Given the description of an element on the screen output the (x, y) to click on. 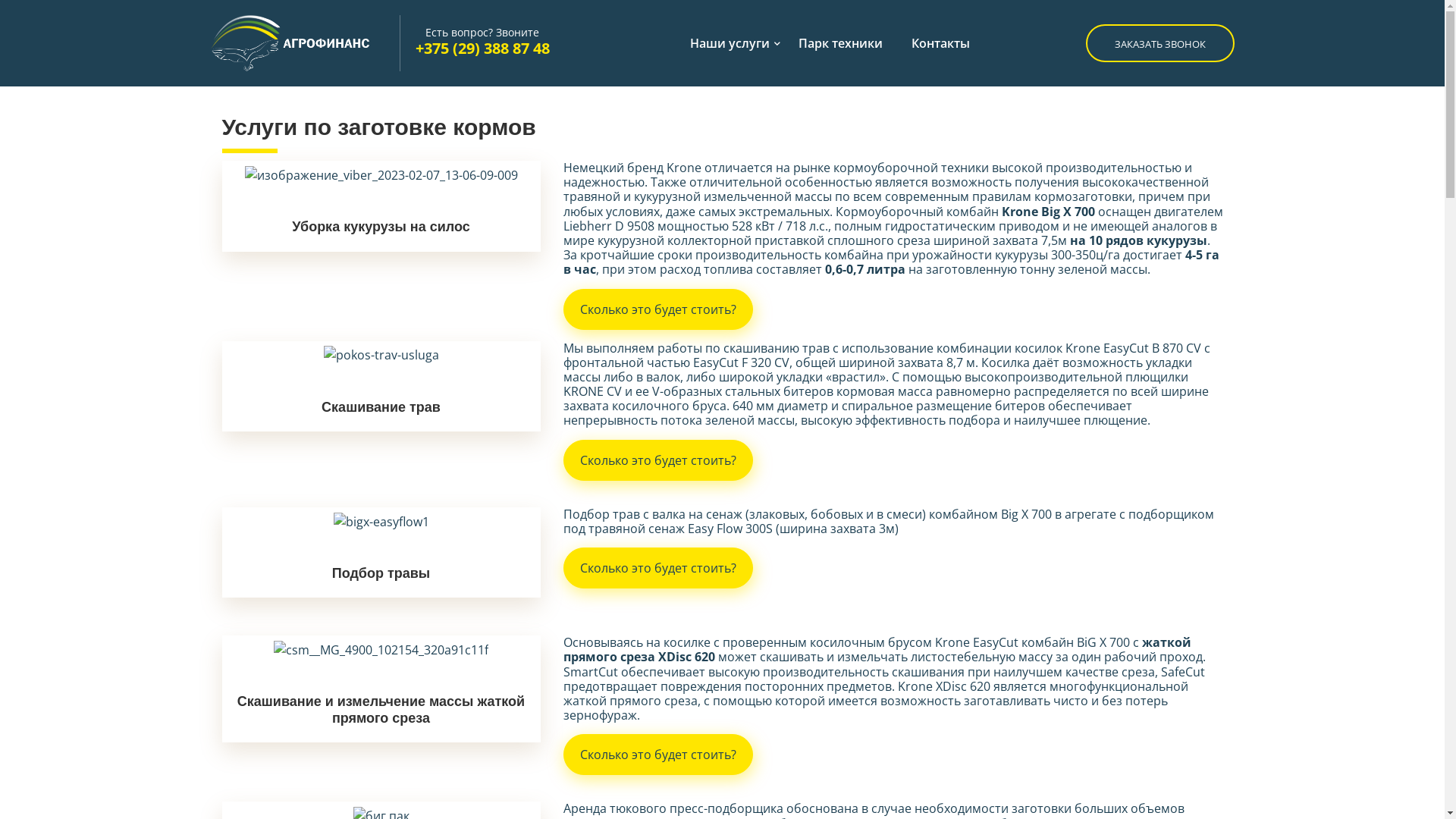
agrouslugi Element type: hover (304, 43)
+375 (29) 388 87 48 Element type: text (482, 47)
